Given the description of an element on the screen output the (x, y) to click on. 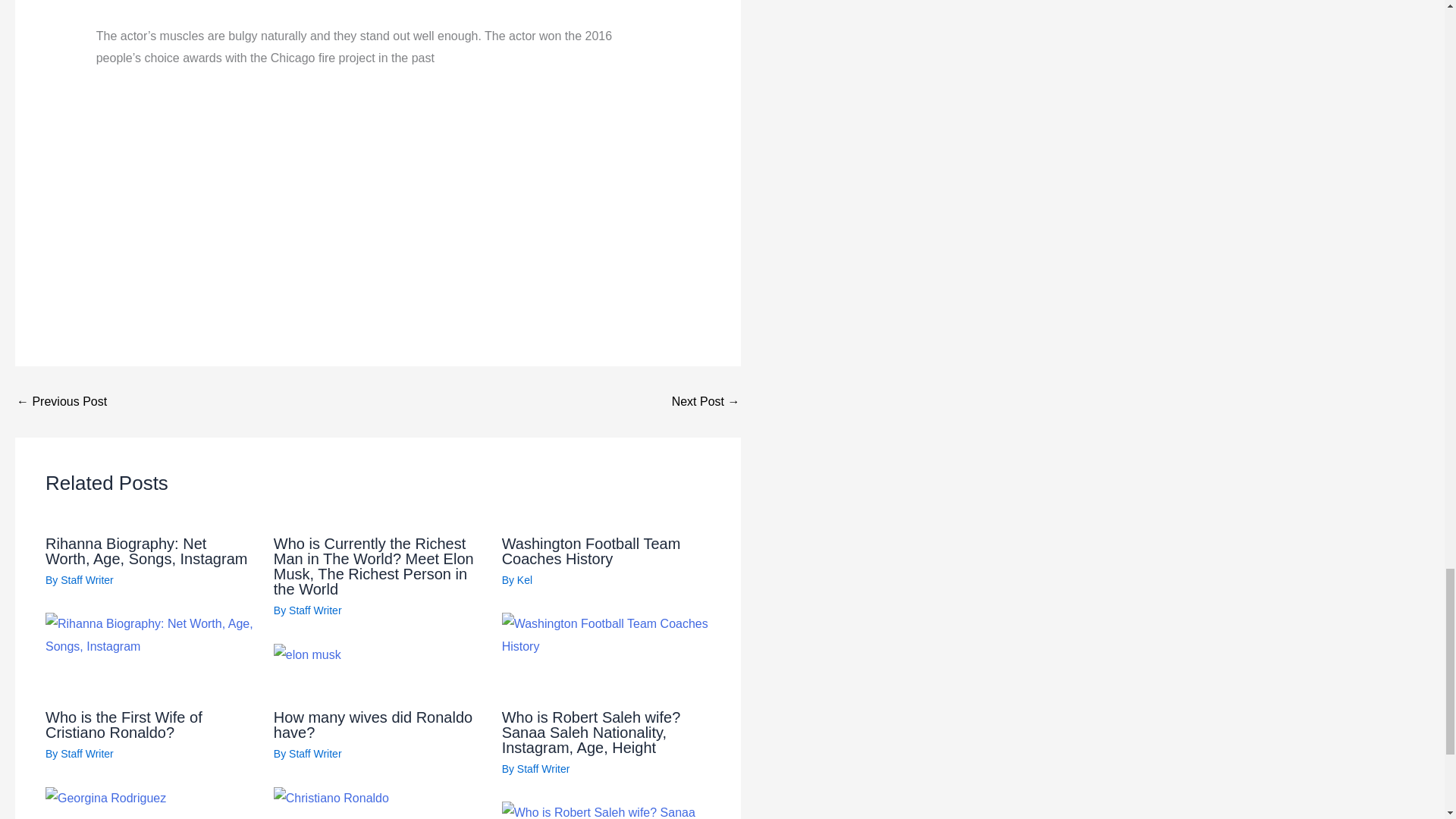
View all posts by Staff Writer (87, 579)
View all posts by Staff Writer (543, 768)
Cristiano Ronaldo Height: How Tall is Cristiano Ronaldo? (705, 401)
View all posts by Kel (524, 579)
View all posts by Staff Writer (315, 609)
View all posts by Staff Writer (315, 753)
View all posts by Staff Writer (87, 753)
